Given the description of an element on the screen output the (x, y) to click on. 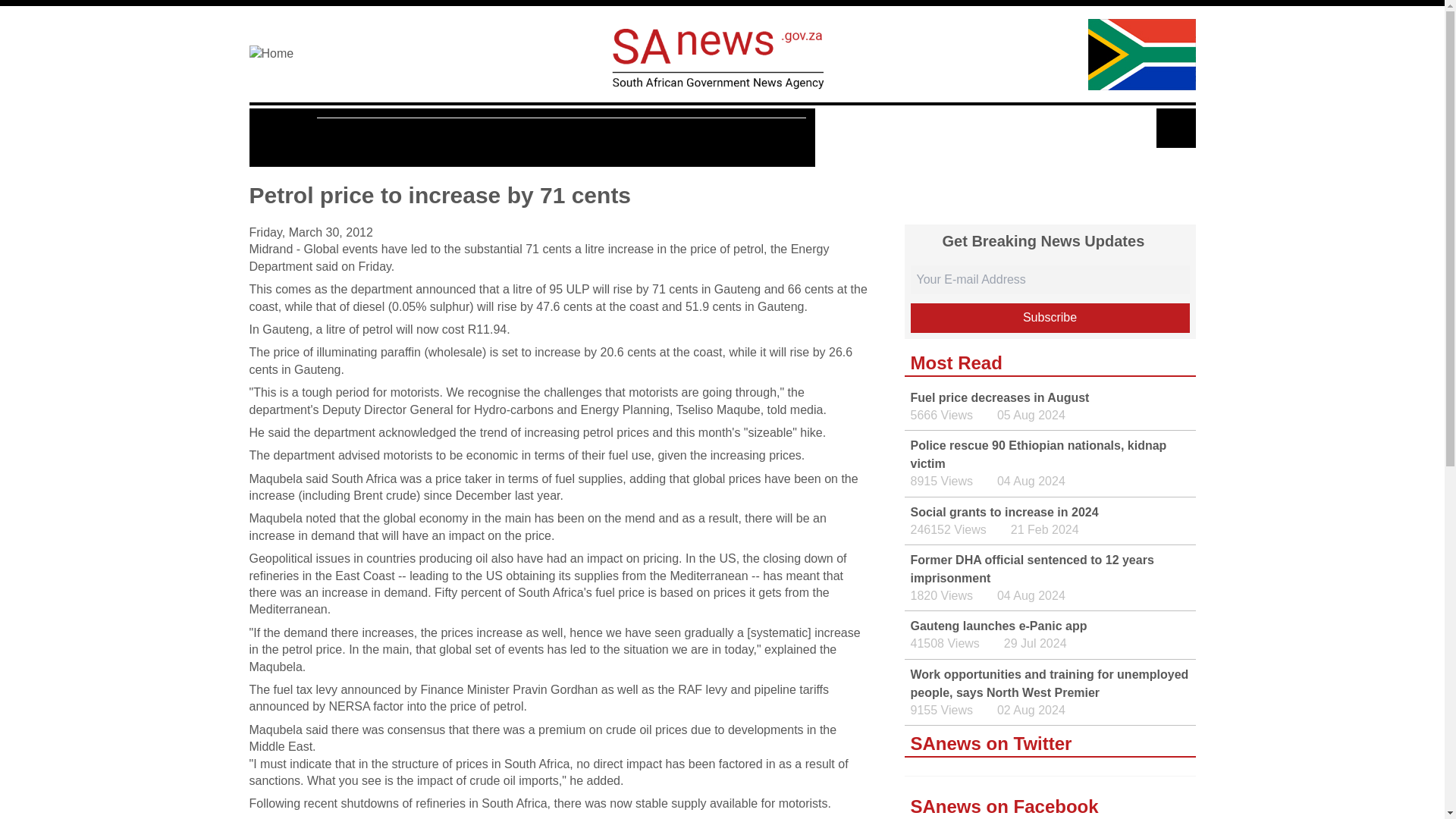
Special Features (742, 137)
Features (355, 137)
Fuel price decreases in August (999, 397)
Subscribe (1049, 317)
Subscribe (1049, 317)
Former DHA official sentenced to 12 years imprisonment (1031, 568)
Opinion Pieces (621, 137)
Galleries (523, 137)
News (286, 137)
